Given the description of an element on the screen output the (x, y) to click on. 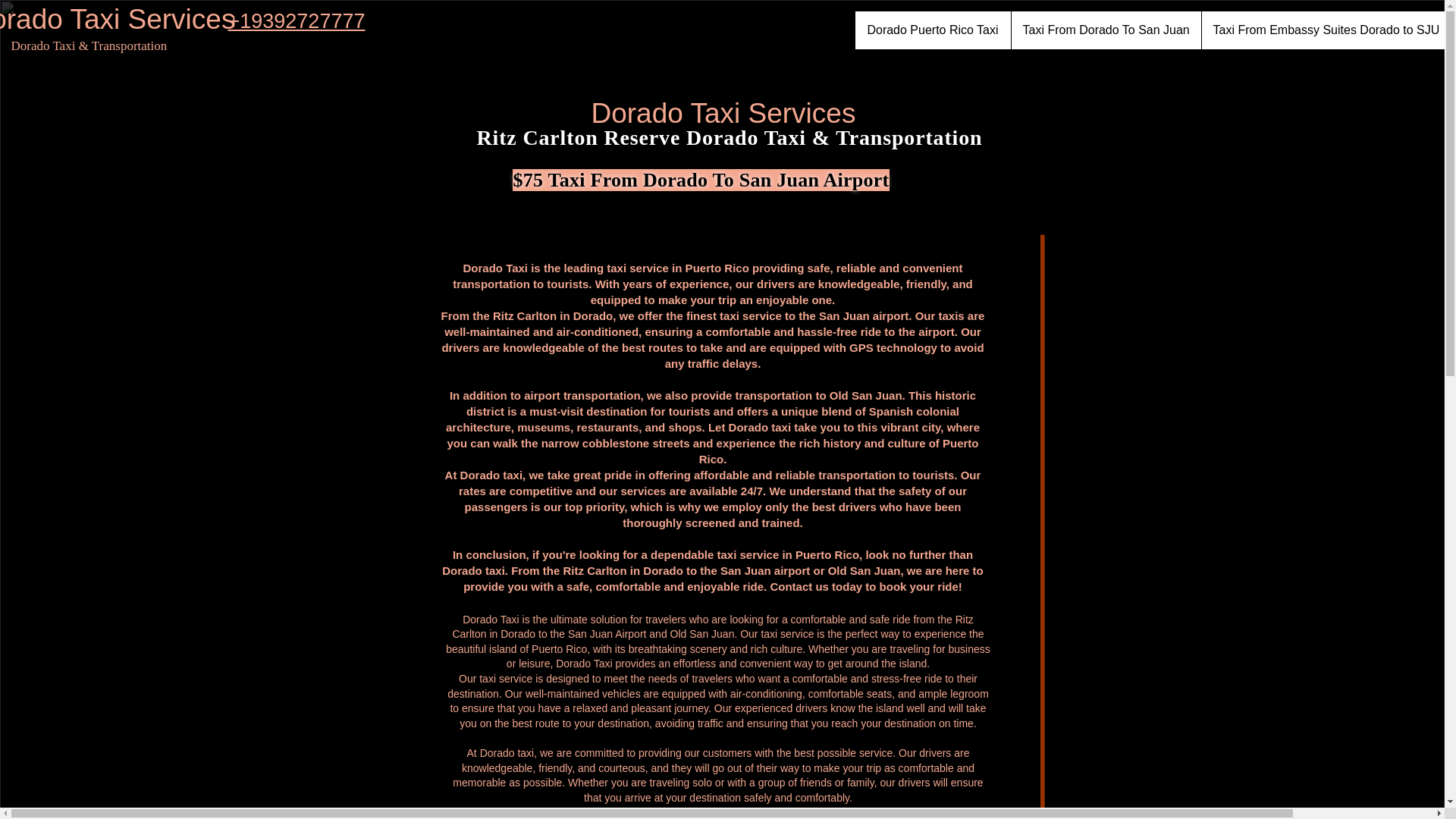
Dorado Puerto Rico Taxi (933, 30)
Taxi From Embassy Suites Dorado to SJU (1323, 30)
Taxi From Dorado To San Juan (1104, 30)
